Given the description of an element on the screen output the (x, y) to click on. 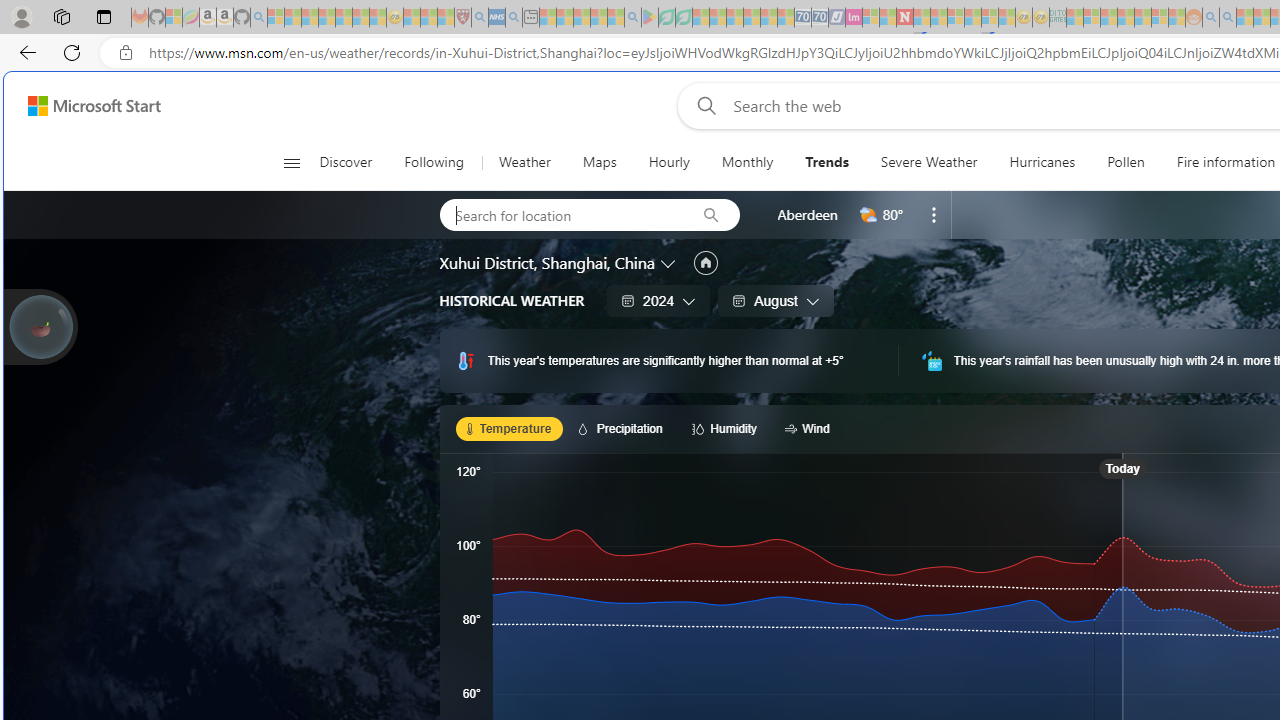
Severe Weather (929, 162)
Search for location (561, 214)
